Given the description of an element on the screen output the (x, y) to click on. 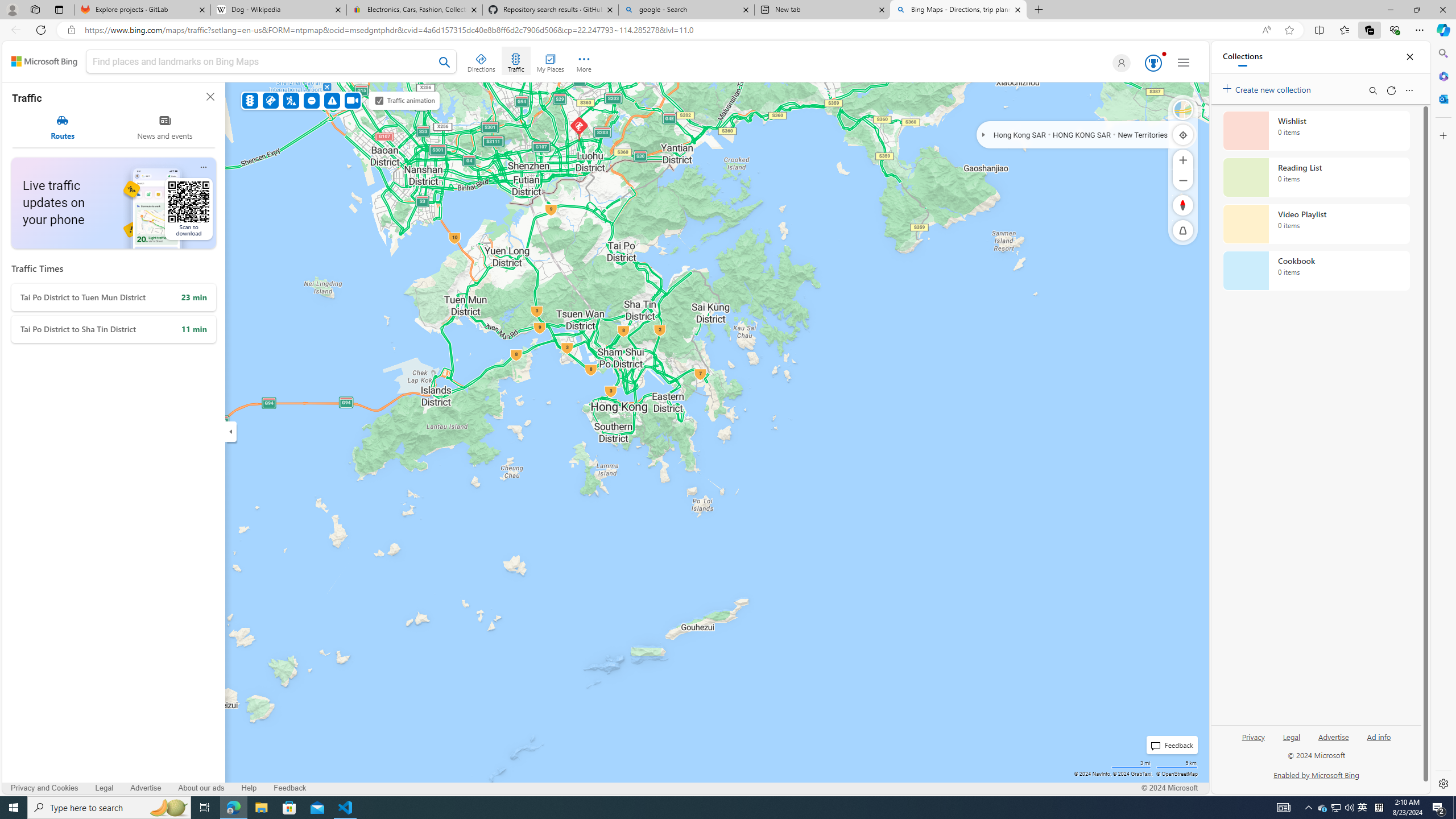
Dog - Wikipedia (277, 9)
About our ads (200, 787)
Create new collection (1268, 87)
Cookbook collection, 0 items (1316, 270)
Traffic (514, 60)
Zoom In (1182, 159)
About our ads (200, 787)
Expand/Collapse Cards (230, 431)
Tai Po District to Tuen Mun District (113, 297)
